Given the description of an element on the screen output the (x, y) to click on. 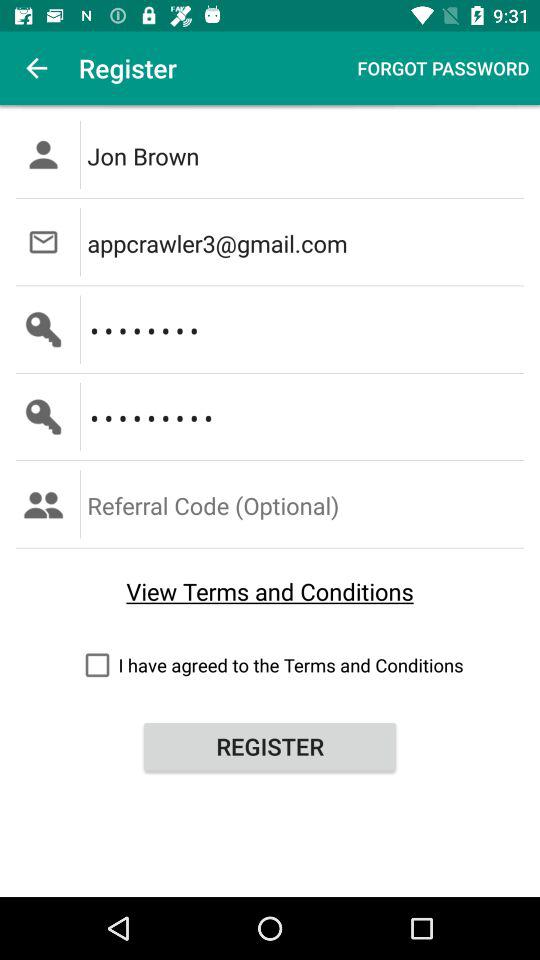
enter referral code (306, 504)
